Given the description of an element on the screen output the (x, y) to click on. 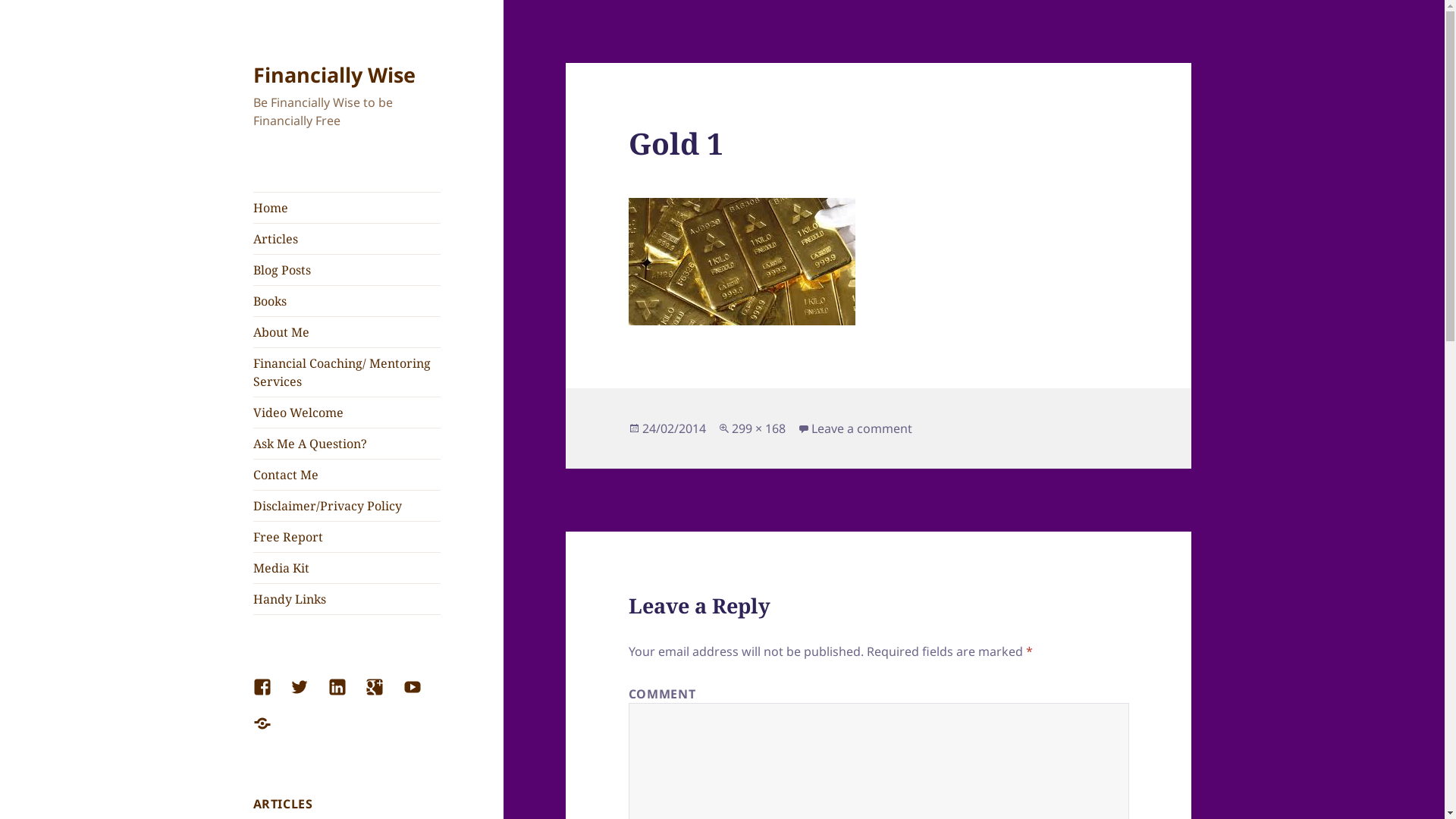
Books Element type: text (347, 300)
Media Kit Element type: text (347, 567)
Google+ Element type: text (383, 695)
Home Element type: text (347, 207)
Twitter Element type: text (308, 695)
Financially Wise Element type: text (334, 74)
Articles Element type: text (347, 238)
Leave a comment
on Gold 1 Element type: text (861, 428)
Ask Me A Question? Element type: text (347, 443)
Free Report Element type: text (347, 536)
Disclaimer/Privacy Policy Element type: text (347, 505)
Video Welcome Element type: text (347, 412)
Financial Coaching/ Mentoring Services Element type: text (347, 372)
Facebook Element type: text (271, 695)
Blog Posts Element type: text (347, 269)
SlideShare Element type: text (271, 732)
LinkedIn Element type: text (346, 695)
About Me Element type: text (347, 331)
Youtube Element type: text (421, 695)
Handy Links Element type: text (347, 598)
24/02/2014 Element type: text (674, 428)
Contact Me Element type: text (347, 474)
